Given the description of an element on the screen output the (x, y) to click on. 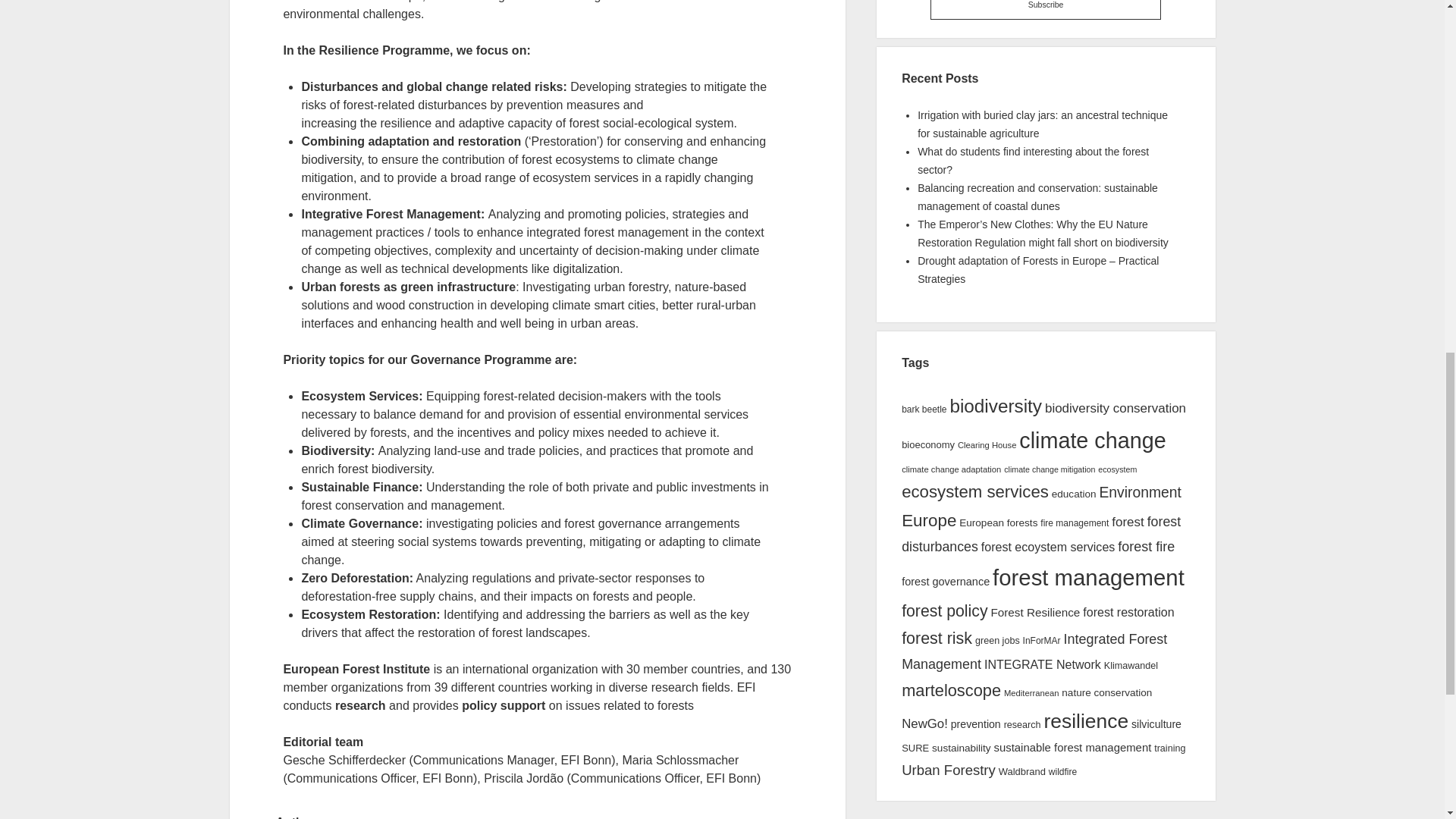
policy support (502, 705)
Clearing House (987, 444)
What do students find interesting about the forest sector?  (1032, 160)
biodiversity (995, 405)
bioeconomy (928, 444)
bark beetle (923, 409)
Subscribe (1045, 9)
Subscribe (1045, 9)
